Given the description of an element on the screen output the (x, y) to click on. 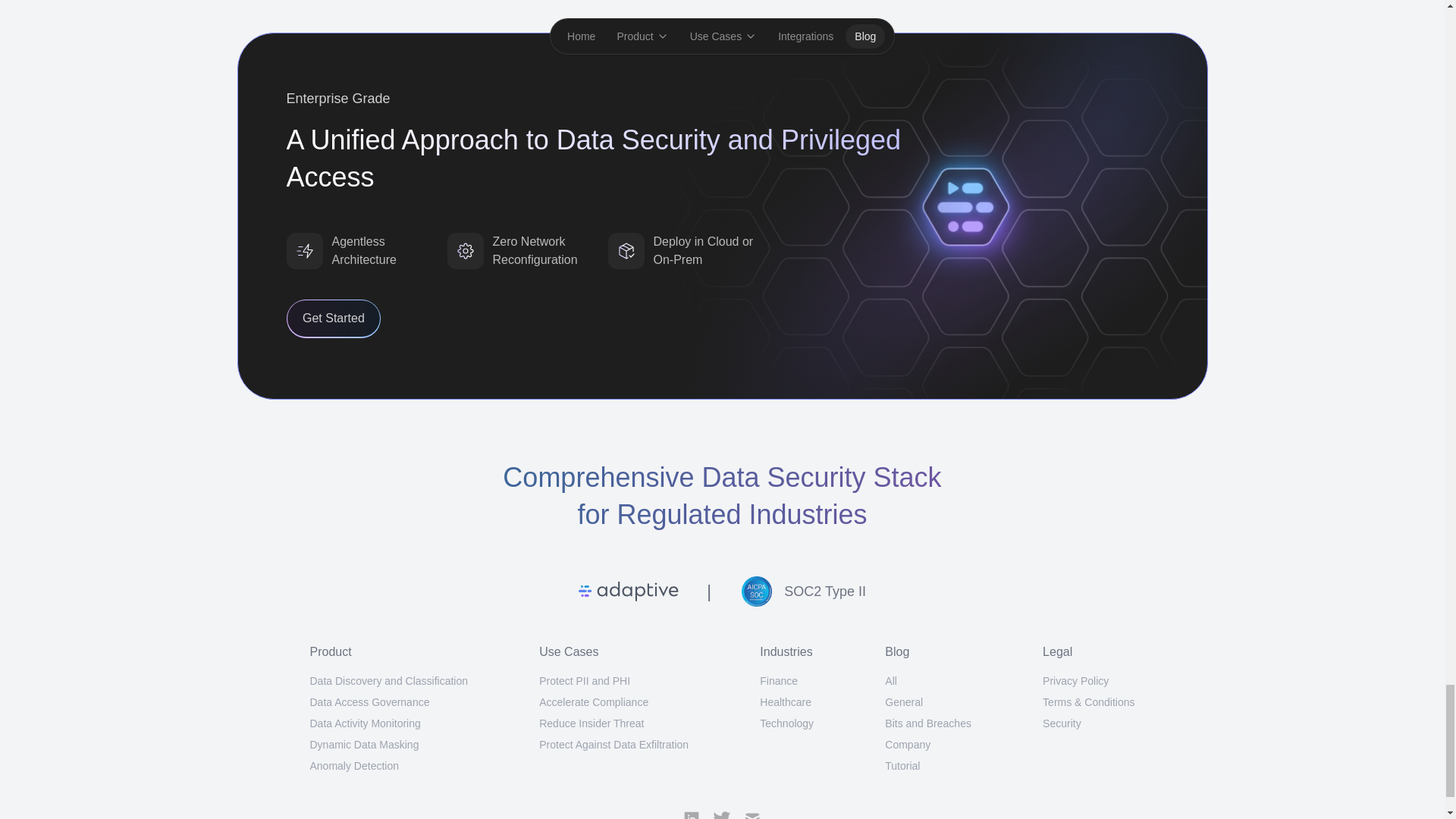
Anomaly Detection (353, 766)
Bits and Breaches (928, 723)
Company (907, 744)
Protect PII and PHI (584, 680)
Security (1061, 723)
General (904, 702)
Finance (778, 680)
Healthcare (785, 702)
Get Started (333, 318)
Reduce Insider Threat (590, 723)
Data Discovery and Classification (387, 680)
All (890, 680)
Privacy Policy (1075, 680)
Protect Against Data Exfiltration (613, 744)
Tutorial (902, 766)
